Given the description of an element on the screen output the (x, y) to click on. 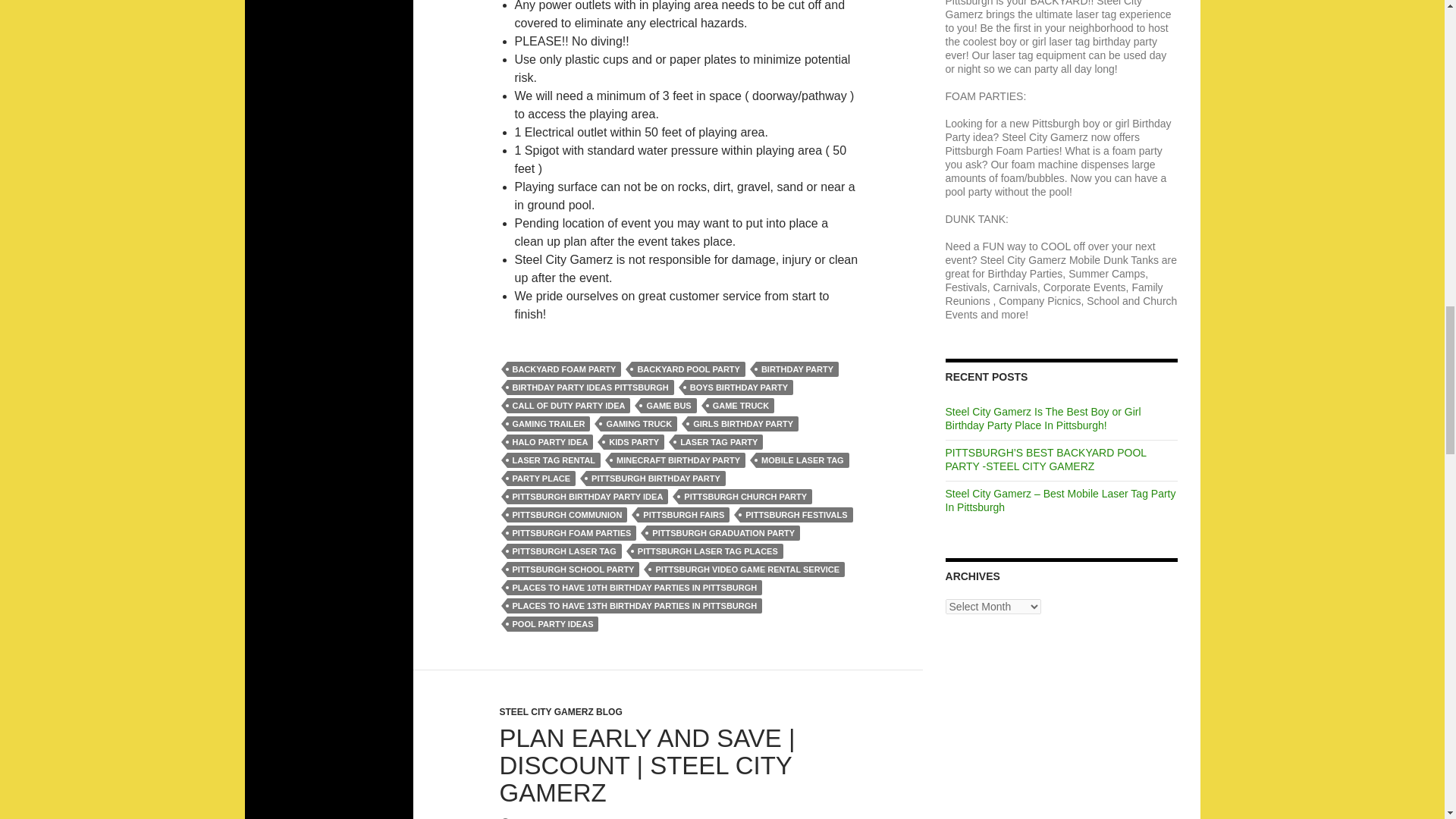
BIRTHDAY PARTY (796, 368)
BACKYARD POOL PARTY (687, 368)
BACKYARD FOAM PARTY (563, 368)
